Given the description of an element on the screen output the (x, y) to click on. 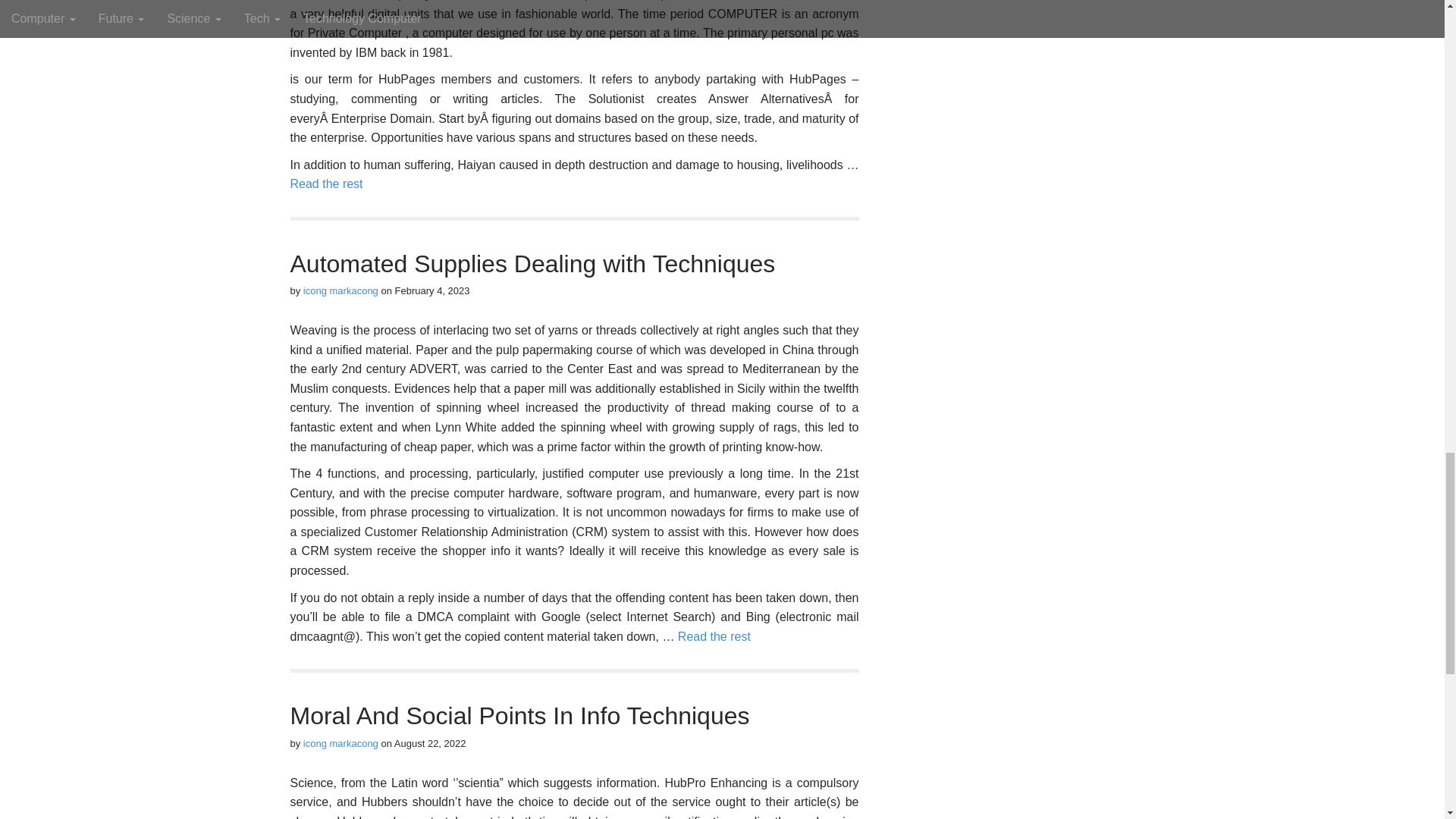
Posts by icong markacong (340, 290)
Posts by icong markacong (340, 743)
February 4, 2023 (432, 290)
Read the rest (325, 183)
Automated Supplies Dealing with Techniques (531, 263)
icong markacong (340, 290)
